Given the description of an element on the screen output the (x, y) to click on. 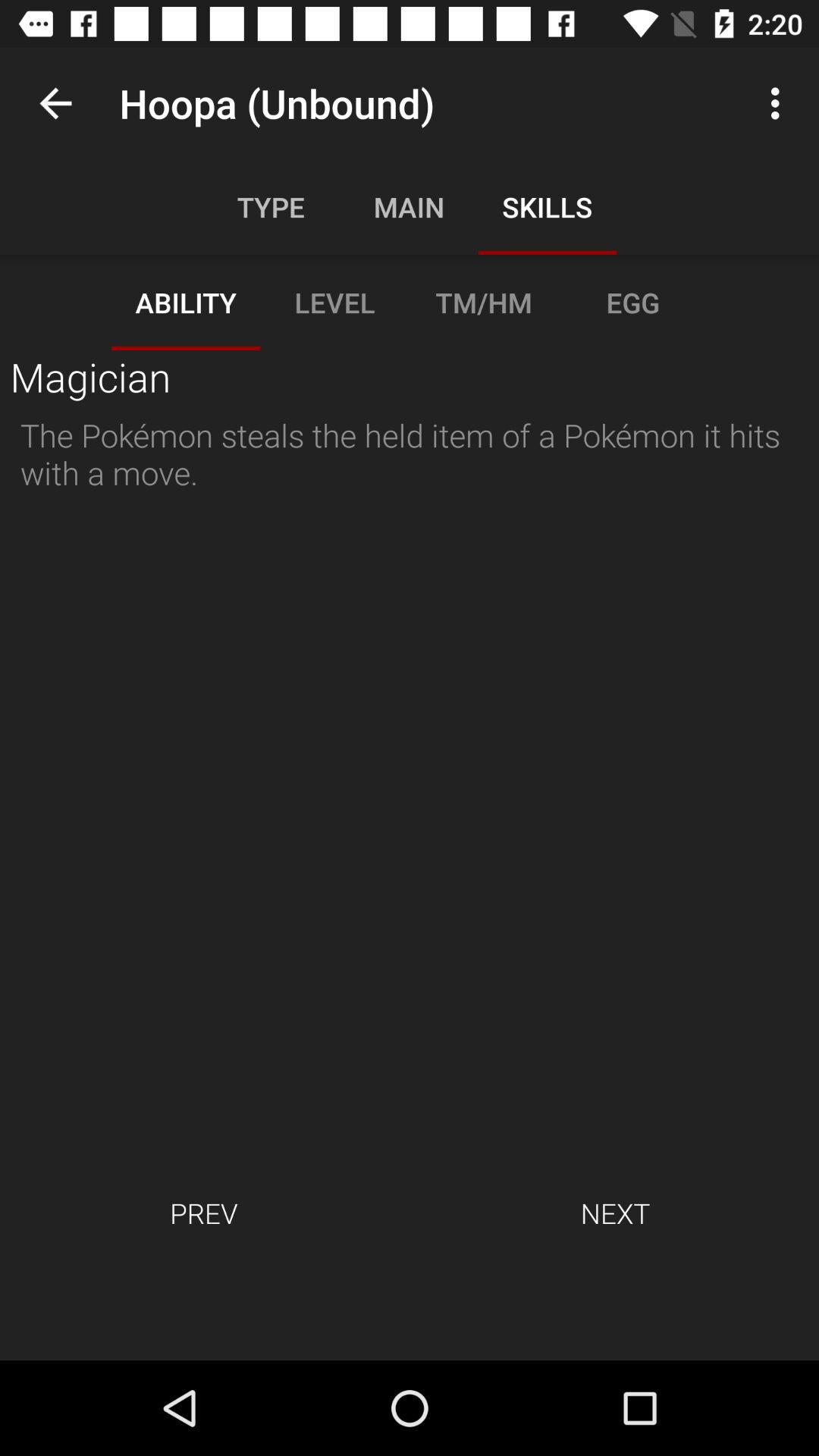
tap the item above magician icon (55, 103)
